Given the description of an element on the screen output the (x, y) to click on. 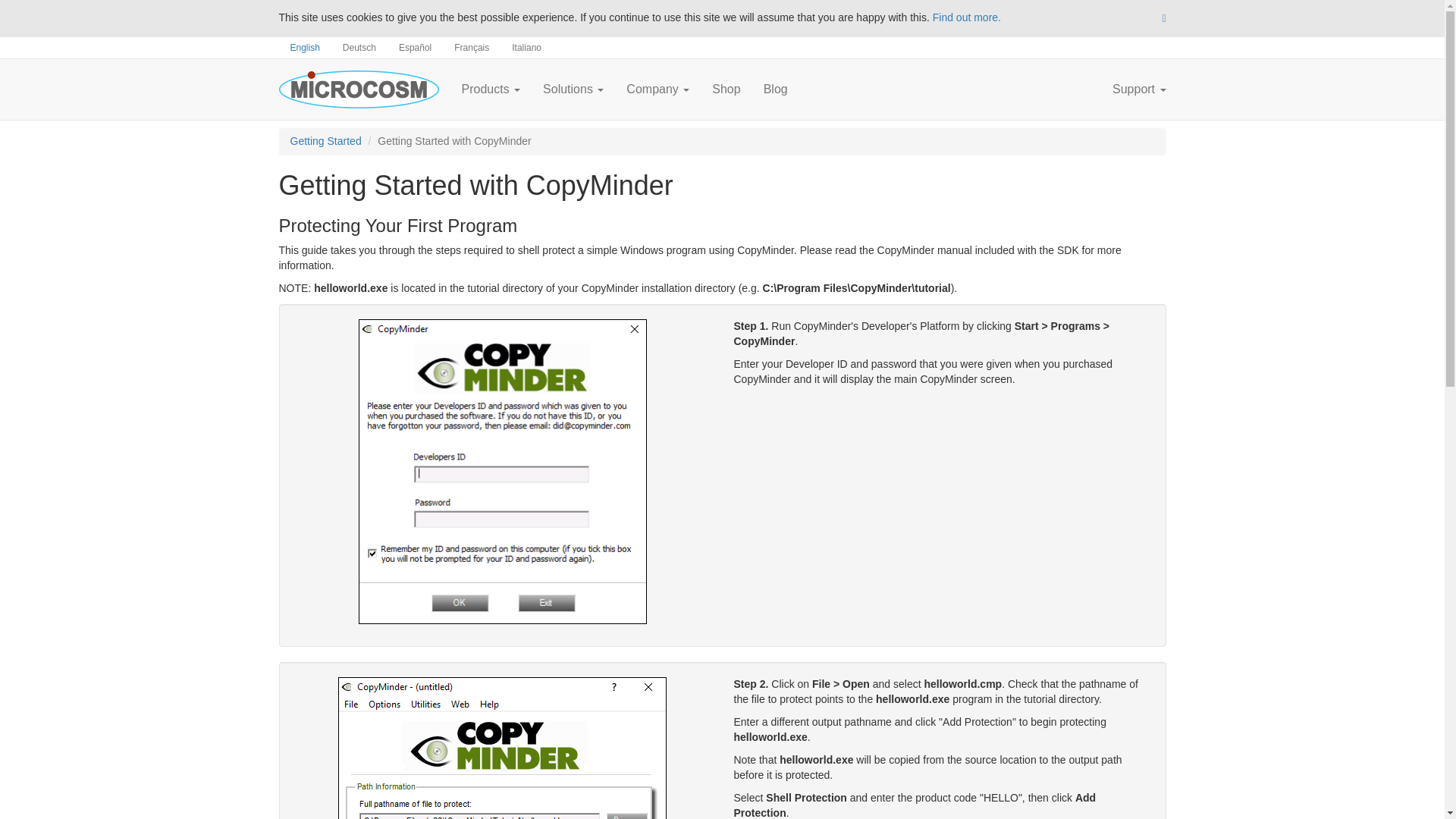
Solutions (572, 88)
Company (657, 88)
Find out more. (967, 17)
Products (490, 88)
Italiano (526, 47)
Deutsch (359, 47)
English (305, 47)
